Given the description of an element on the screen output the (x, y) to click on. 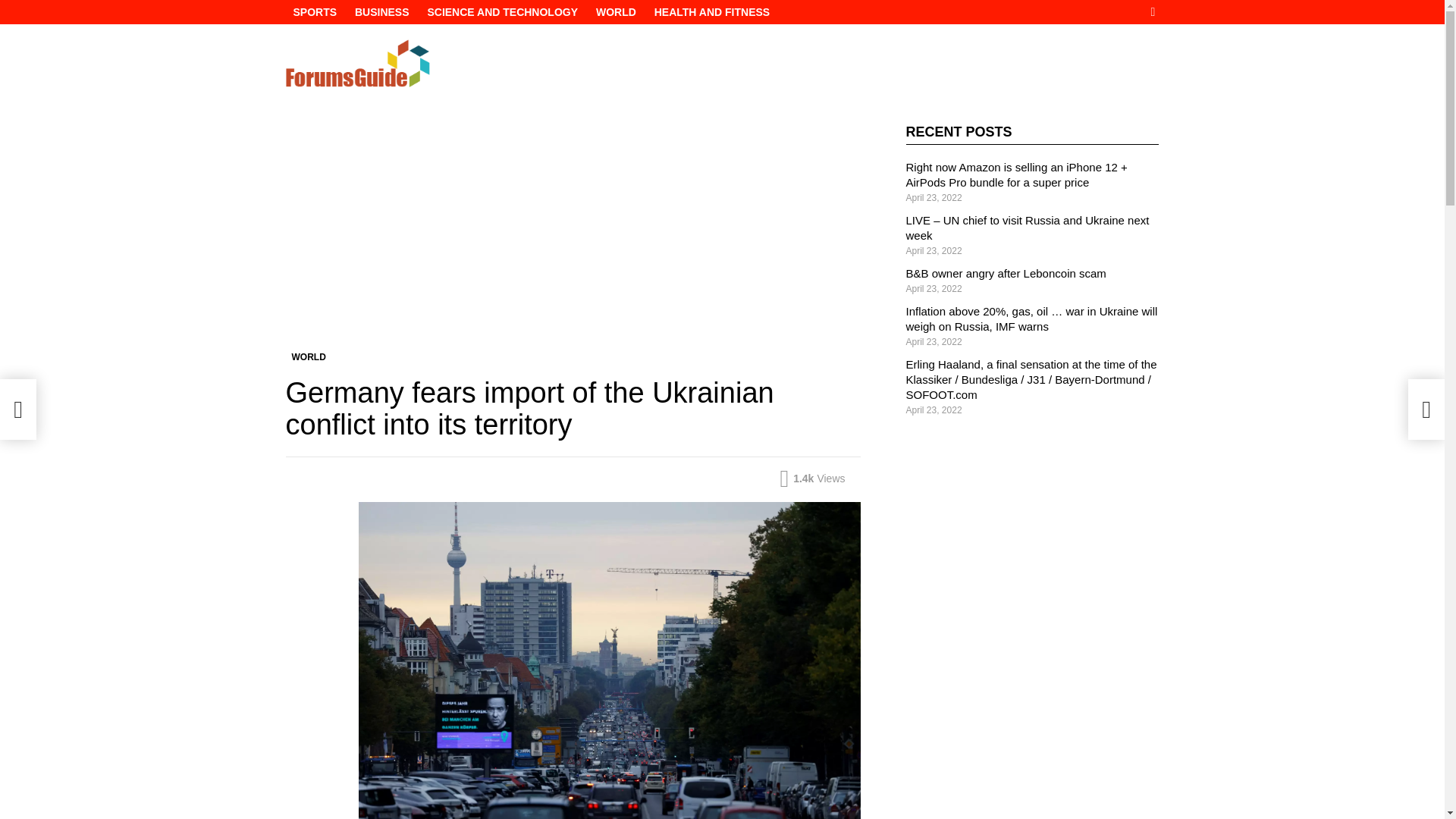
WORLD (308, 356)
SEARCH (1152, 12)
SCIENCE AND TECHNOLOGY (502, 11)
SPORTS (314, 11)
WORLD (615, 11)
HEALTH AND FITNESS (711, 11)
BUSINESS (381, 11)
